Given the description of an element on the screen output the (x, y) to click on. 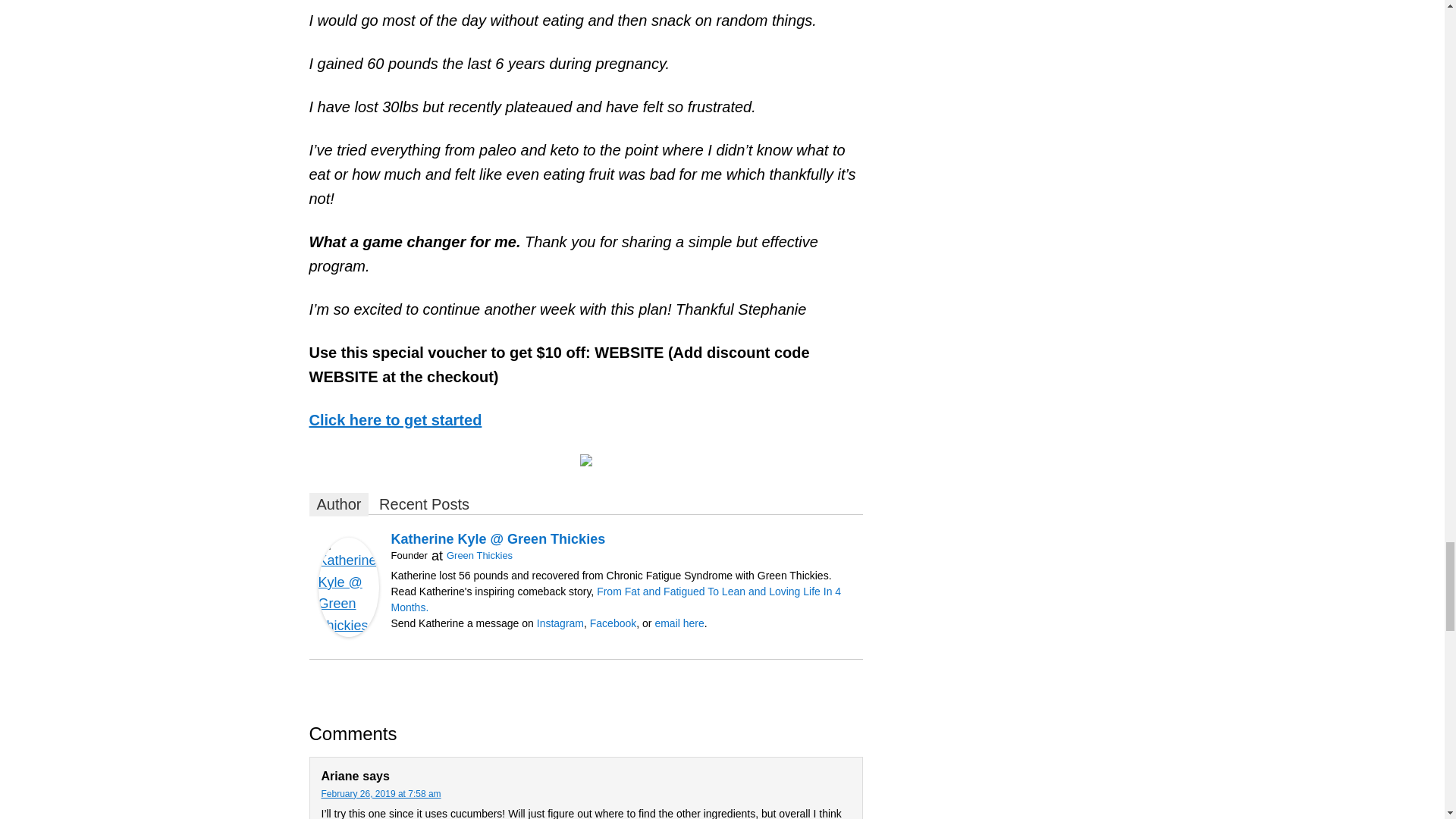
Recent Posts (424, 504)
Instagram (560, 623)
Facebook (612, 623)
Click here to get started (394, 419)
Green Thickies (479, 555)
email here (678, 623)
Author (338, 504)
From Fat and Fatigued To Lean and Loving Life In 4 Months. (616, 599)
